Given the description of an element on the screen output the (x, y) to click on. 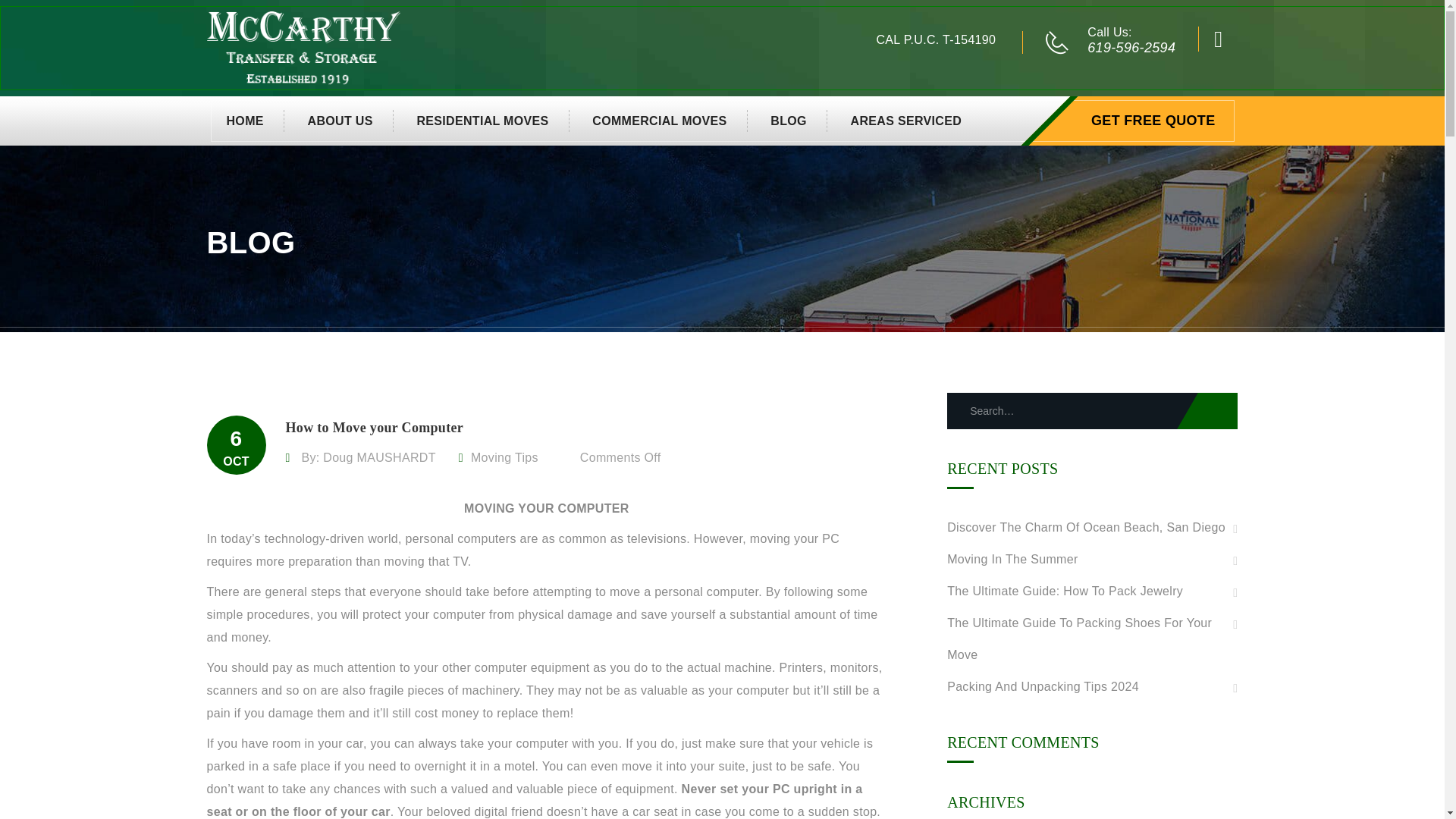
Established 1919 (302, 47)
BLOG (789, 120)
619-596-2594 (1130, 47)
AREAS SERVICED (895, 120)
RESIDENTIAL MOVES (482, 120)
ABOUT US (340, 120)
HOME (244, 120)
Go (1188, 113)
Go (1207, 411)
Go (1207, 411)
